Given the description of an element on the screen output the (x, y) to click on. 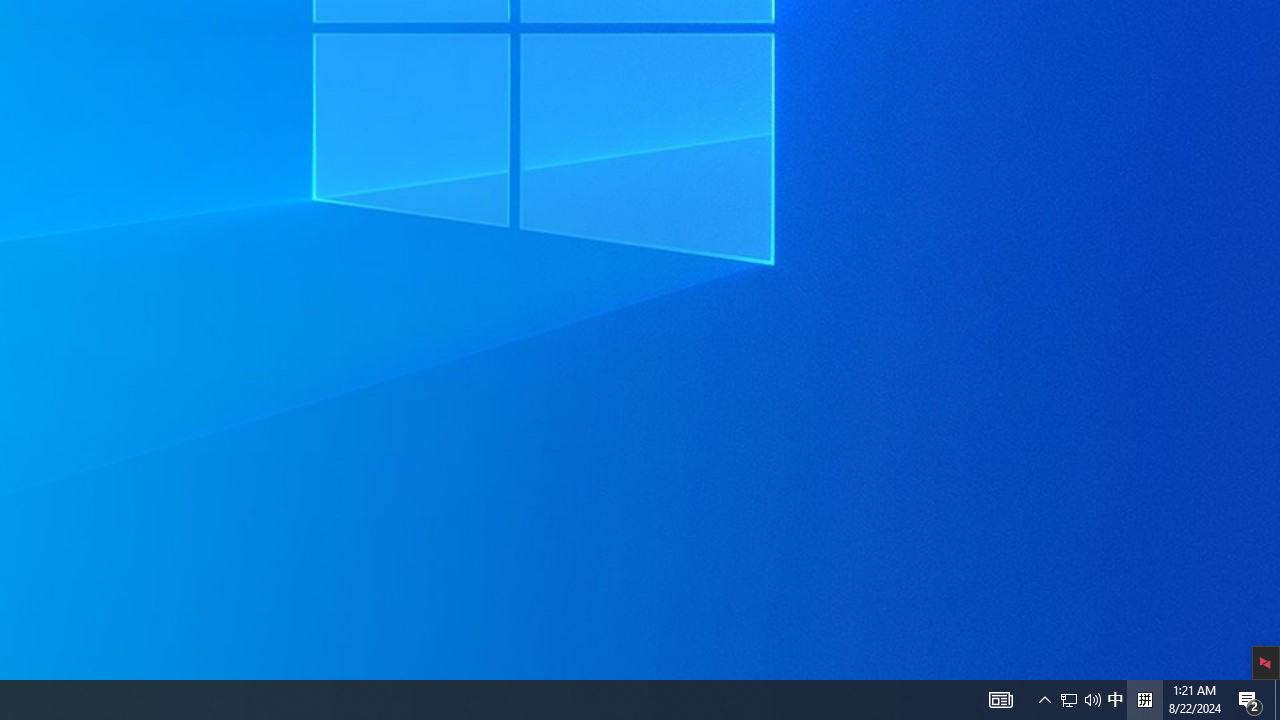
Show desktop (1277, 699)
Q2790: 100% (1069, 699)
Tray Input Indicator - Chinese (Simplified, China) (1092, 699)
Notification Chevron (1144, 699)
AutomationID: 4105 (1115, 699)
User Promoted Notification Area (1044, 699)
Action Center, 2 new notifications (1000, 699)
